Given the description of an element on the screen output the (x, y) to click on. 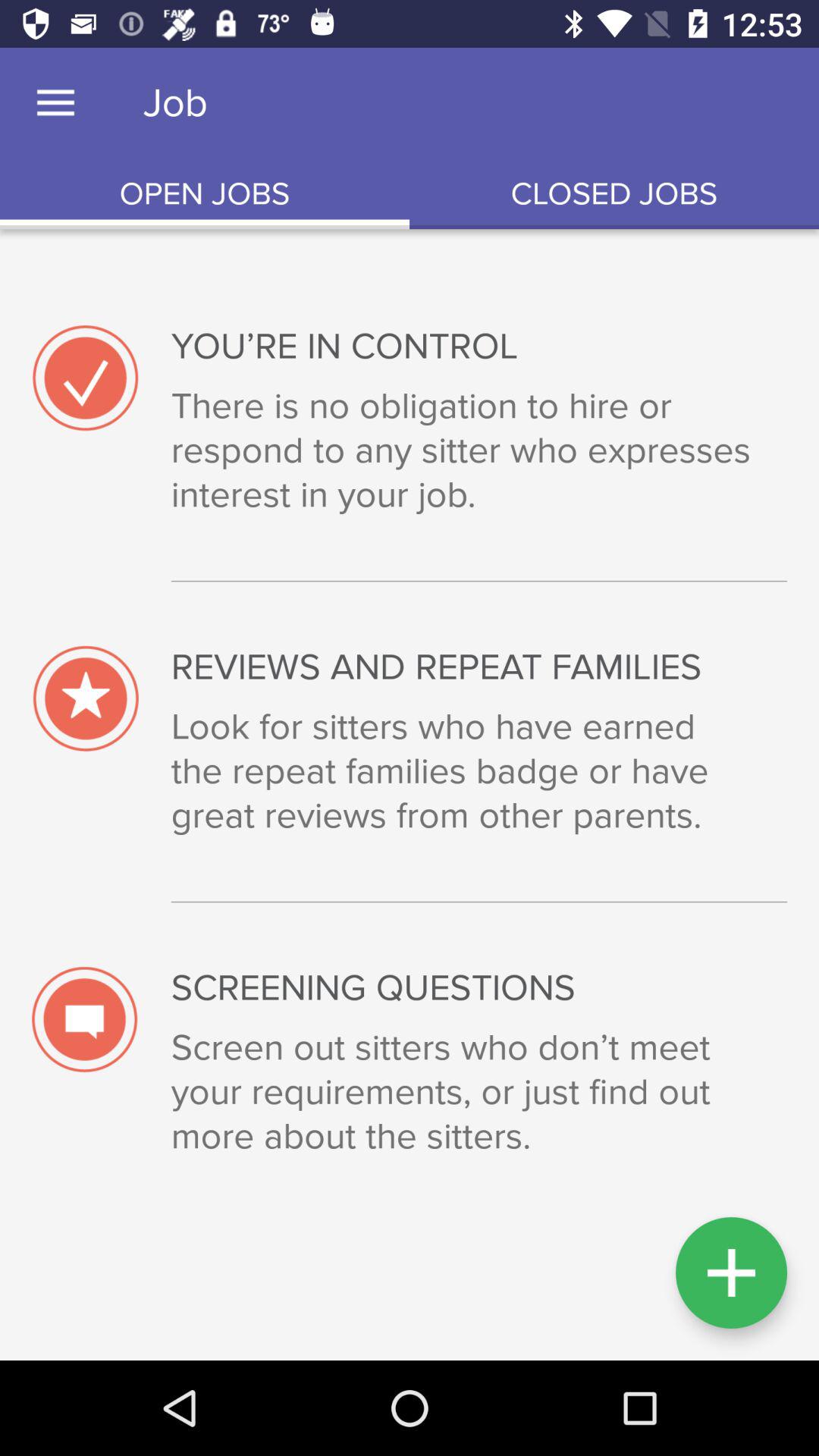
add account (731, 1272)
